Given the description of an element on the screen output the (x, y) to click on. 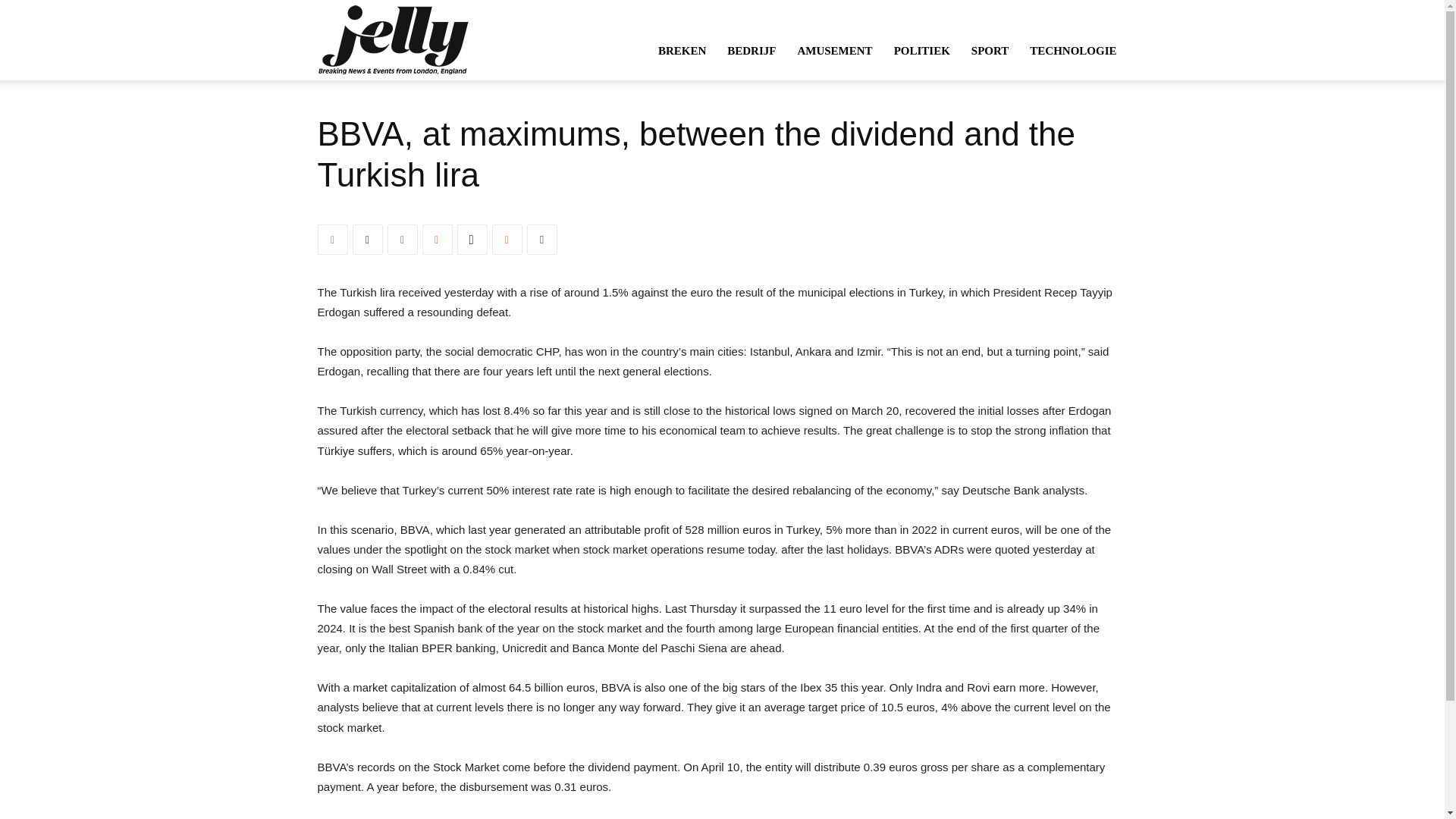
Jelly Nieuws (392, 39)
BREKEN (681, 50)
ReddIt (506, 239)
Afdrukken (540, 239)
TECHNOLOGIE (1072, 50)
Facebook (332, 239)
SPORT (989, 50)
BEDRIJF (751, 50)
POLITIEK (921, 50)
Twitter (366, 239)
Tumblr (401, 239)
AMUSEMENT (834, 50)
Mix (436, 239)
Digg (471, 239)
